Given the description of an element on the screen output the (x, y) to click on. 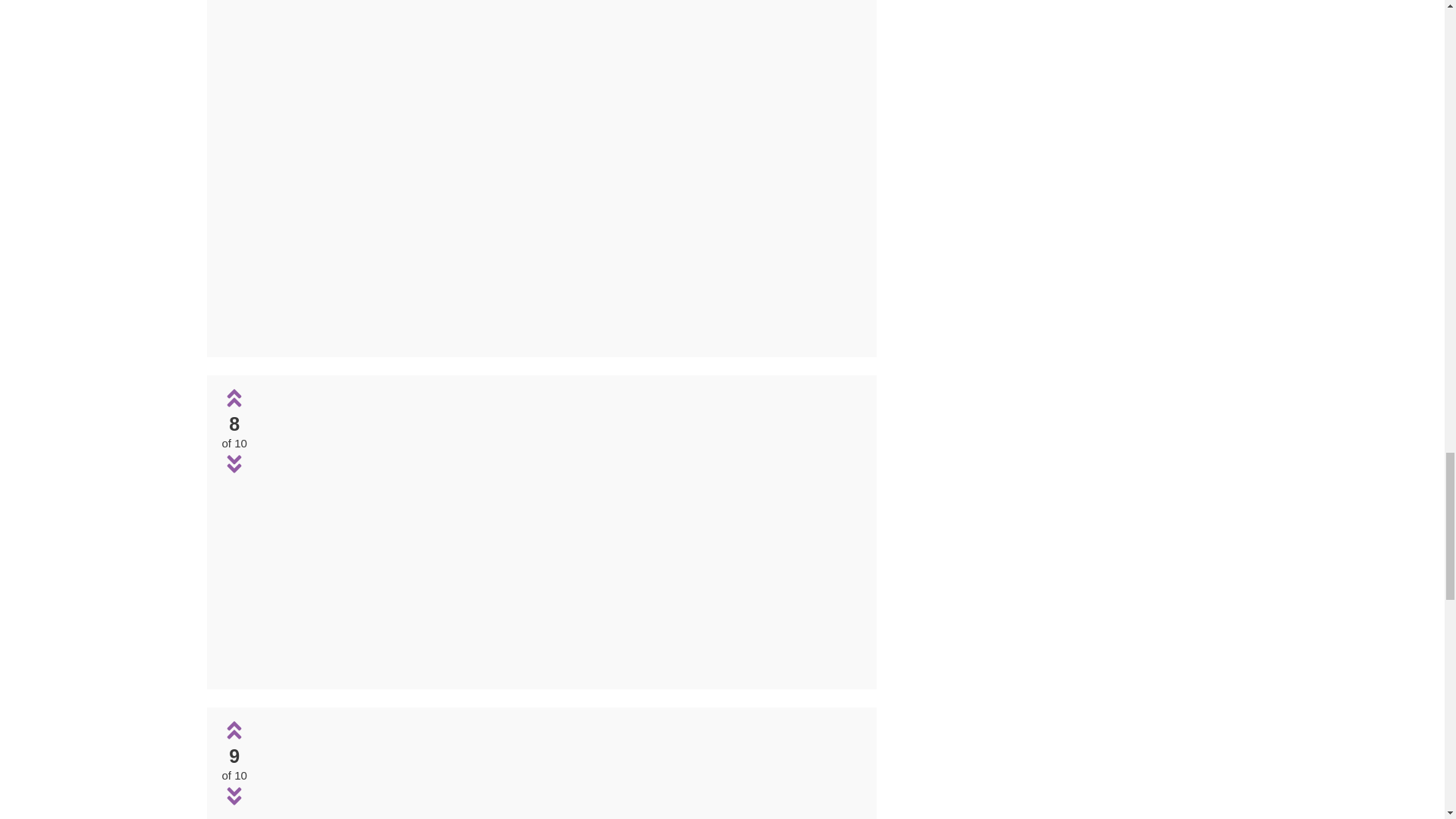
Modern Stools Made Using 75 Control Process (559, 170)
Modern Stools Made Using 75 Control Process (559, 667)
Modern Stools Made Using 75 Control Process (559, 336)
